Given the description of an element on the screen output the (x, y) to click on. 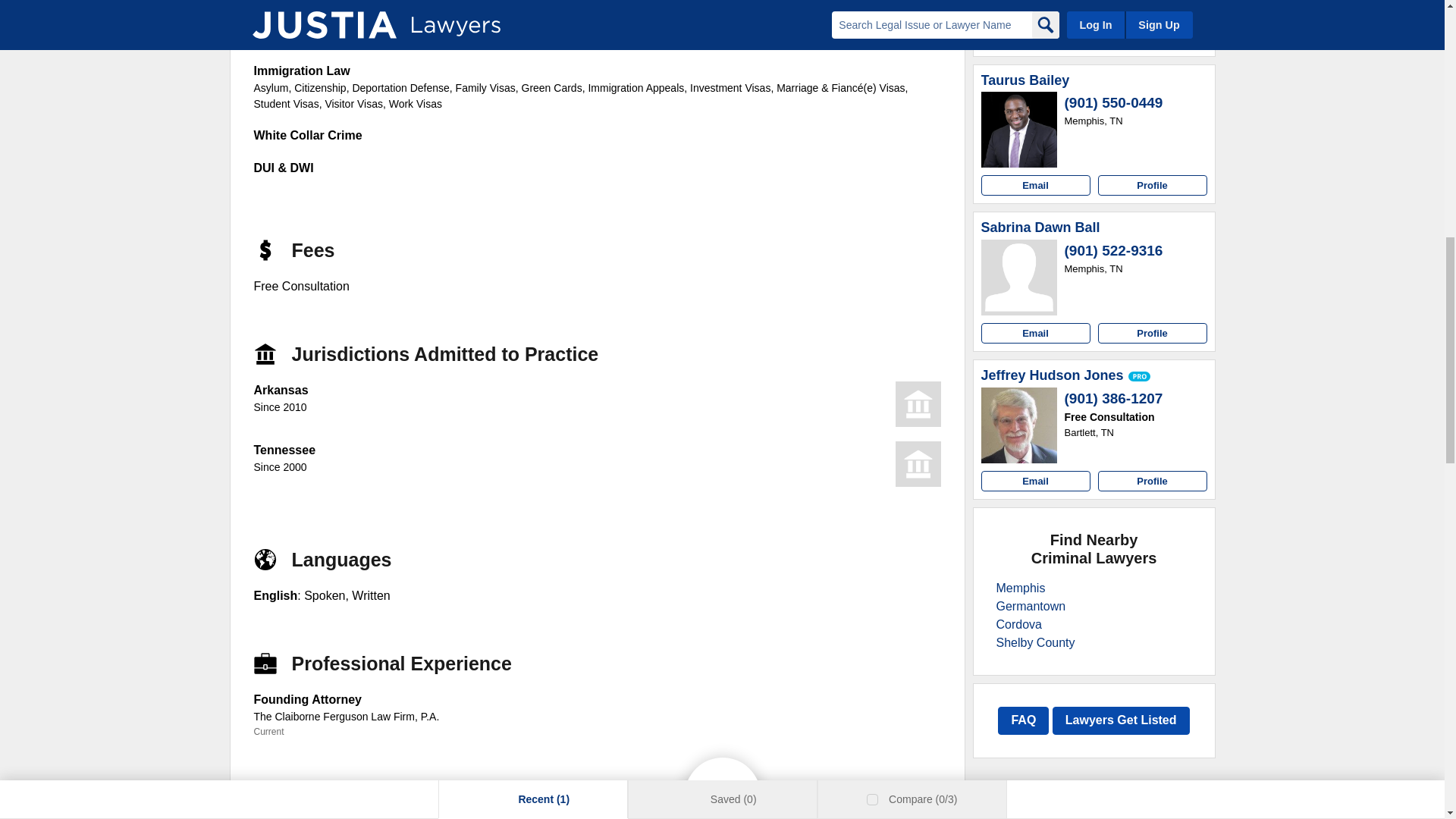
Taurus Bailey (1025, 80)
Taurus Bailey (1019, 129)
Christopher Helt (1019, 4)
